Given the description of an element on the screen output the (x, y) to click on. 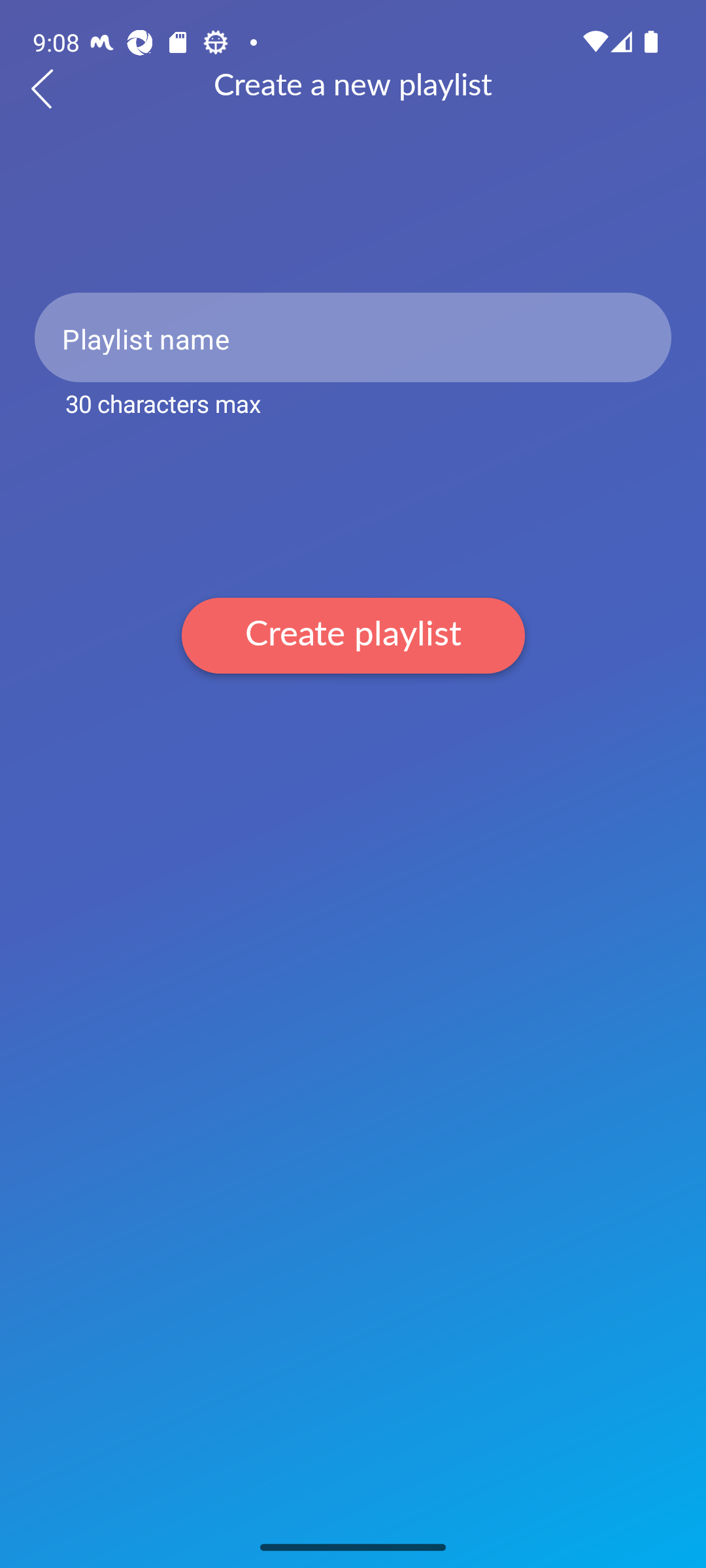
Playlist name (352, 337)
Create playlist (353, 634)
